Given the description of an element on the screen output the (x, y) to click on. 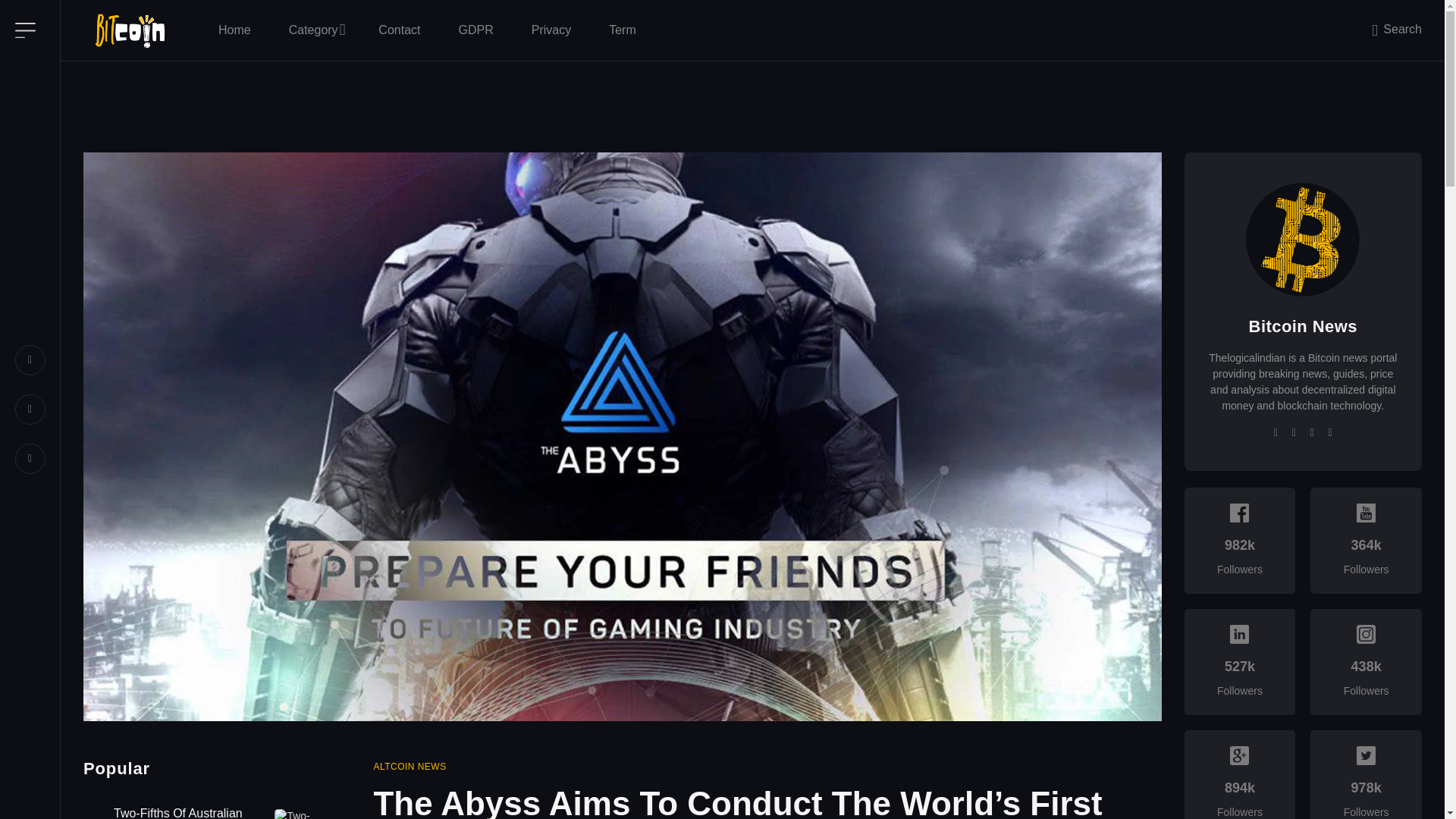
GDPR (475, 30)
Home (234, 30)
Privacy (550, 30)
Contact (399, 30)
Category (314, 30)
